Given the description of an element on the screen output the (x, y) to click on. 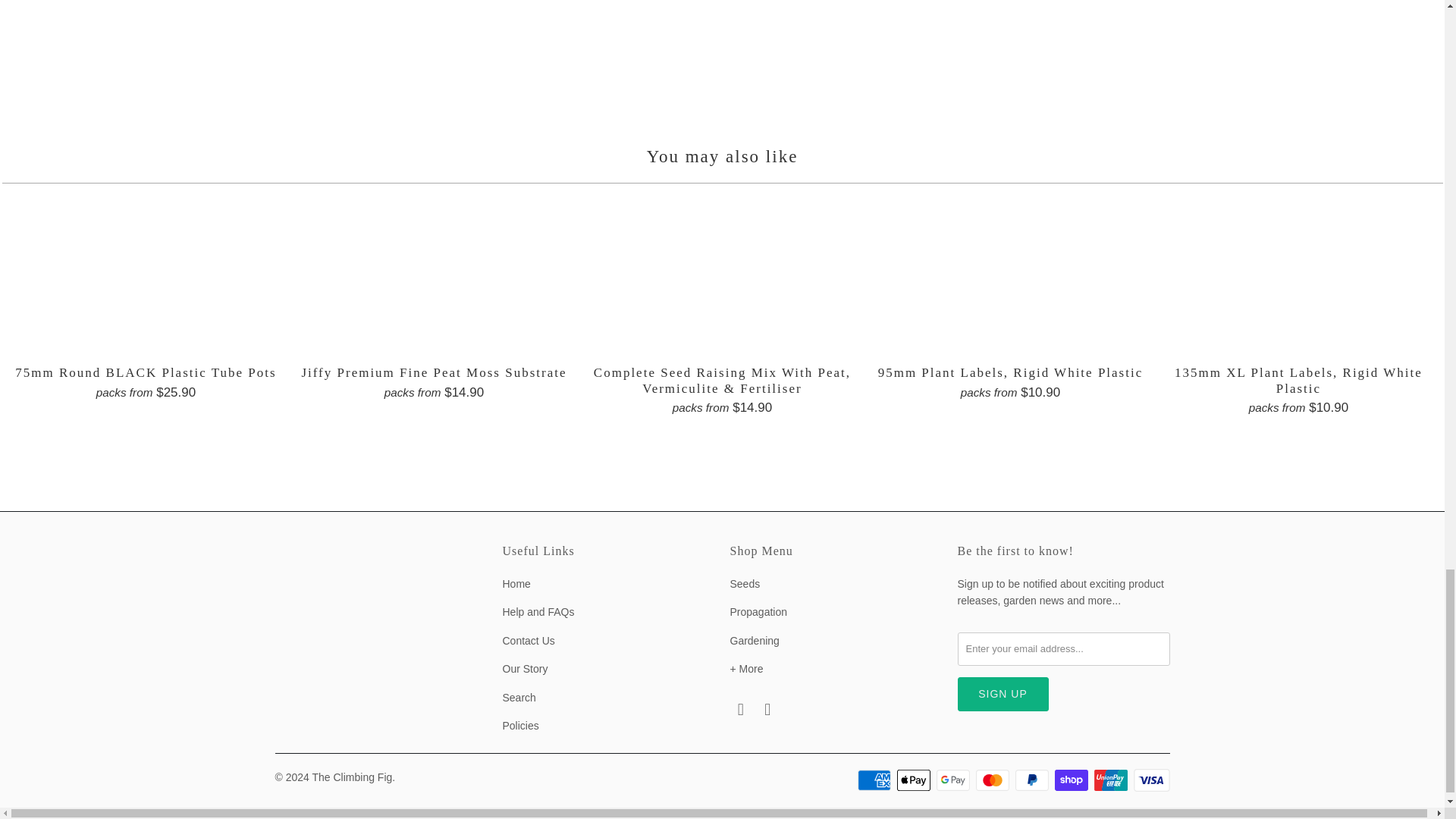
Visa (1150, 780)
Union Pay (1112, 780)
Shop Pay (1072, 780)
PayPal (1032, 780)
Google Pay (954, 780)
American Express (875, 780)
Sign Up (1002, 694)
Apple Pay (914, 780)
Mastercard (993, 780)
